Given the description of an element on the screen output the (x, y) to click on. 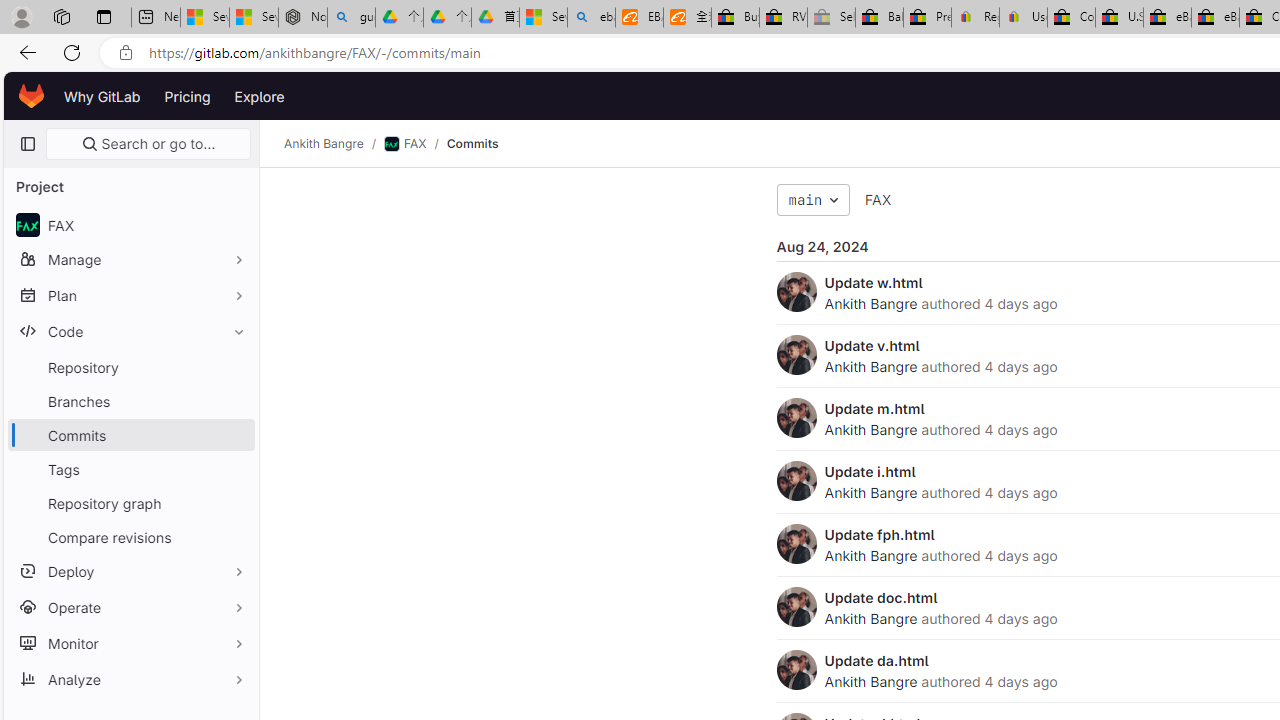
Ankith Bangre/ (334, 143)
Plan (130, 295)
Update doc.html (881, 597)
Pricing (187, 95)
Compare revisions (130, 536)
Operate (130, 606)
Primary navigation sidebar (27, 143)
Pricing (187, 95)
Analyze (130, 678)
Update v.html (872, 345)
